Given the description of an element on the screen output the (x, y) to click on. 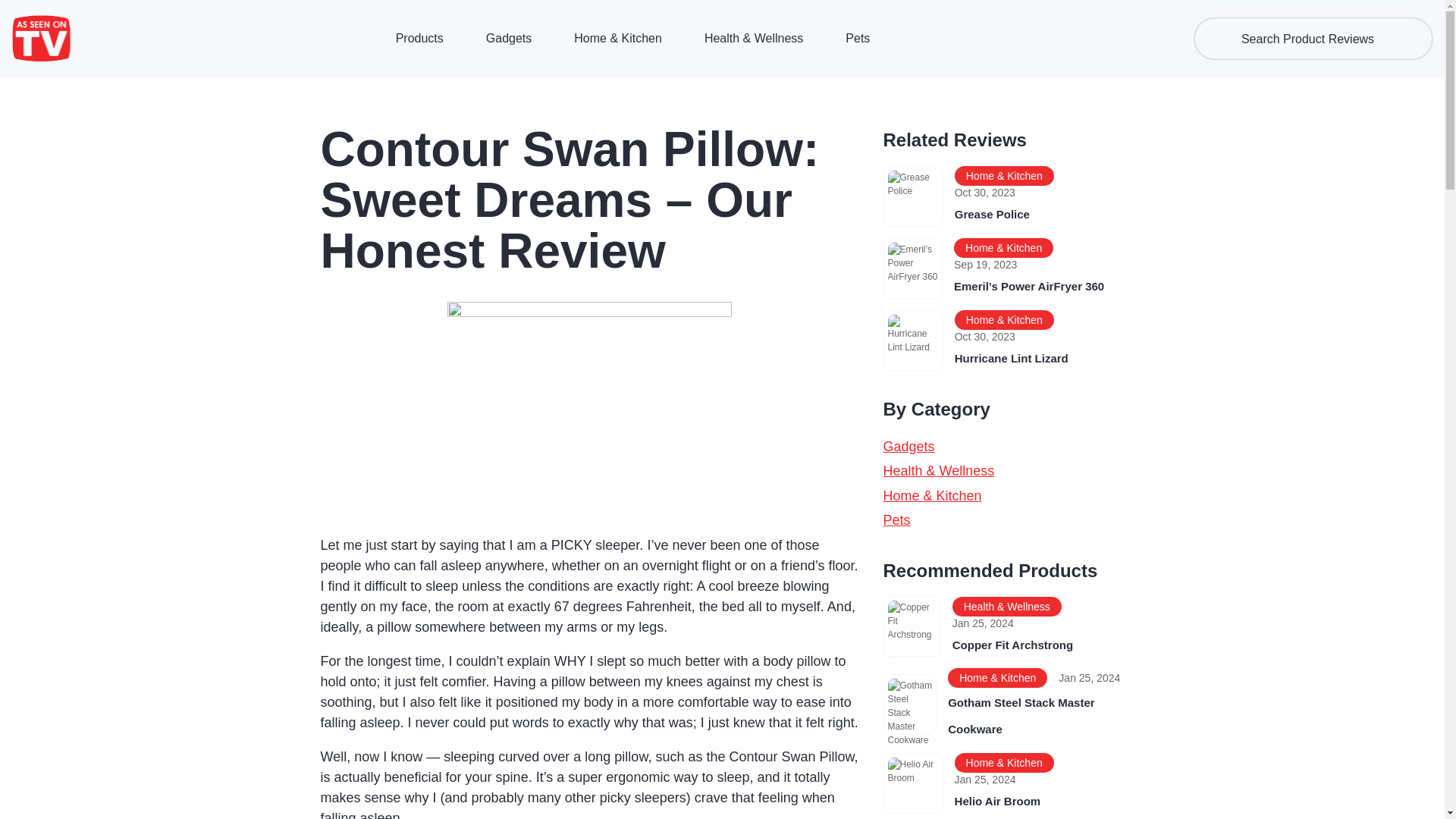
Gadgets (908, 446)
Gotham Steel Stack Master Cookware (1020, 715)
Pets (857, 38)
Gadgets (508, 38)
Pinterest (713, 65)
Twitter (749, 65)
Helio Air Broom (998, 800)
Facebook (678, 65)
Hurricane Lint Lizard (1011, 358)
Products (419, 38)
Grease Police (992, 214)
Copper Fit Archstrong (1012, 644)
Pets (896, 519)
